Given the description of an element on the screen output the (x, y) to click on. 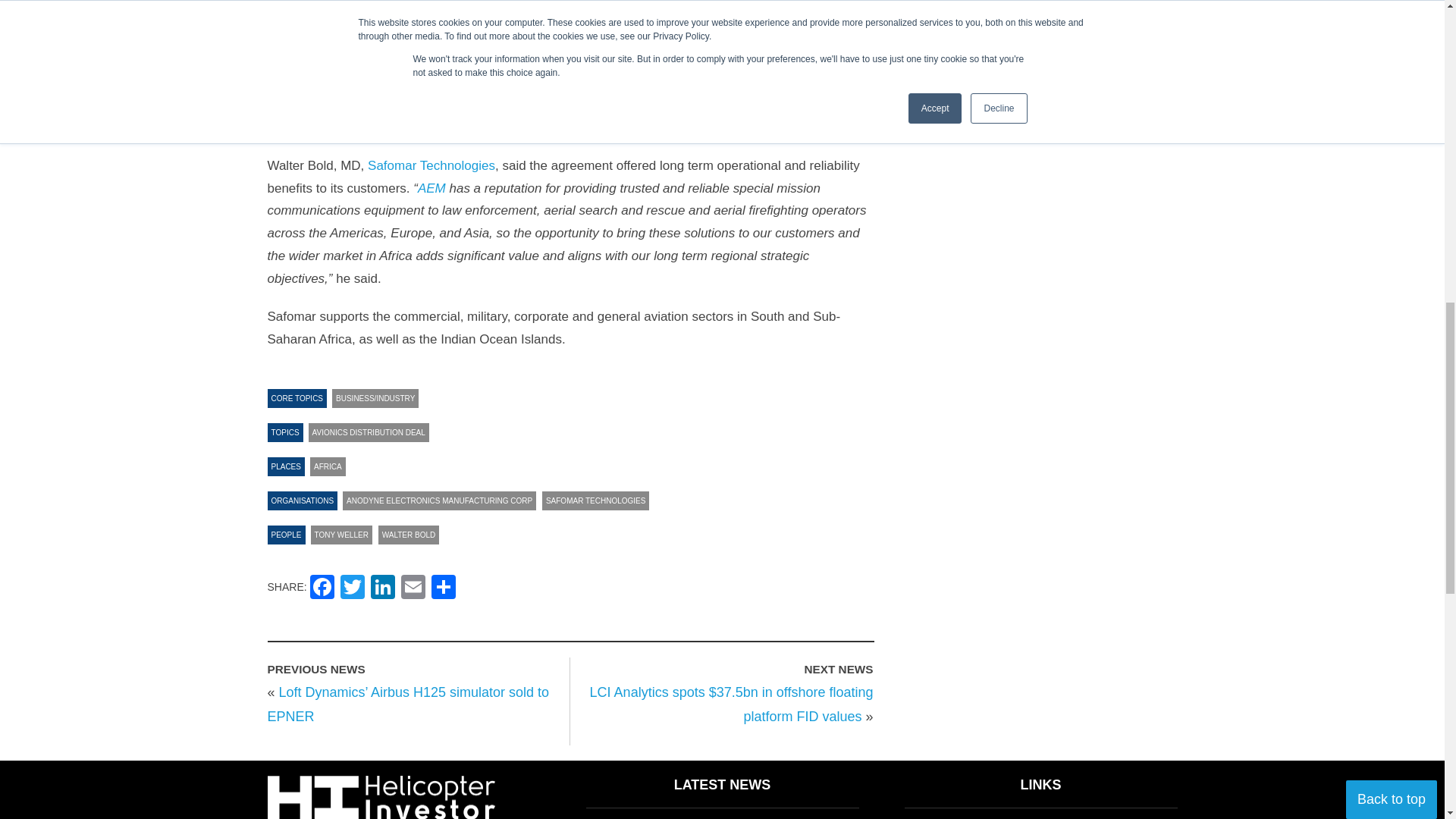
Email (412, 588)
Facebook (322, 588)
Safomar Technologies (431, 165)
Twitter (352, 588)
LinkedIn (382, 588)
AEM (431, 187)
